Given the description of an element on the screen output the (x, y) to click on. 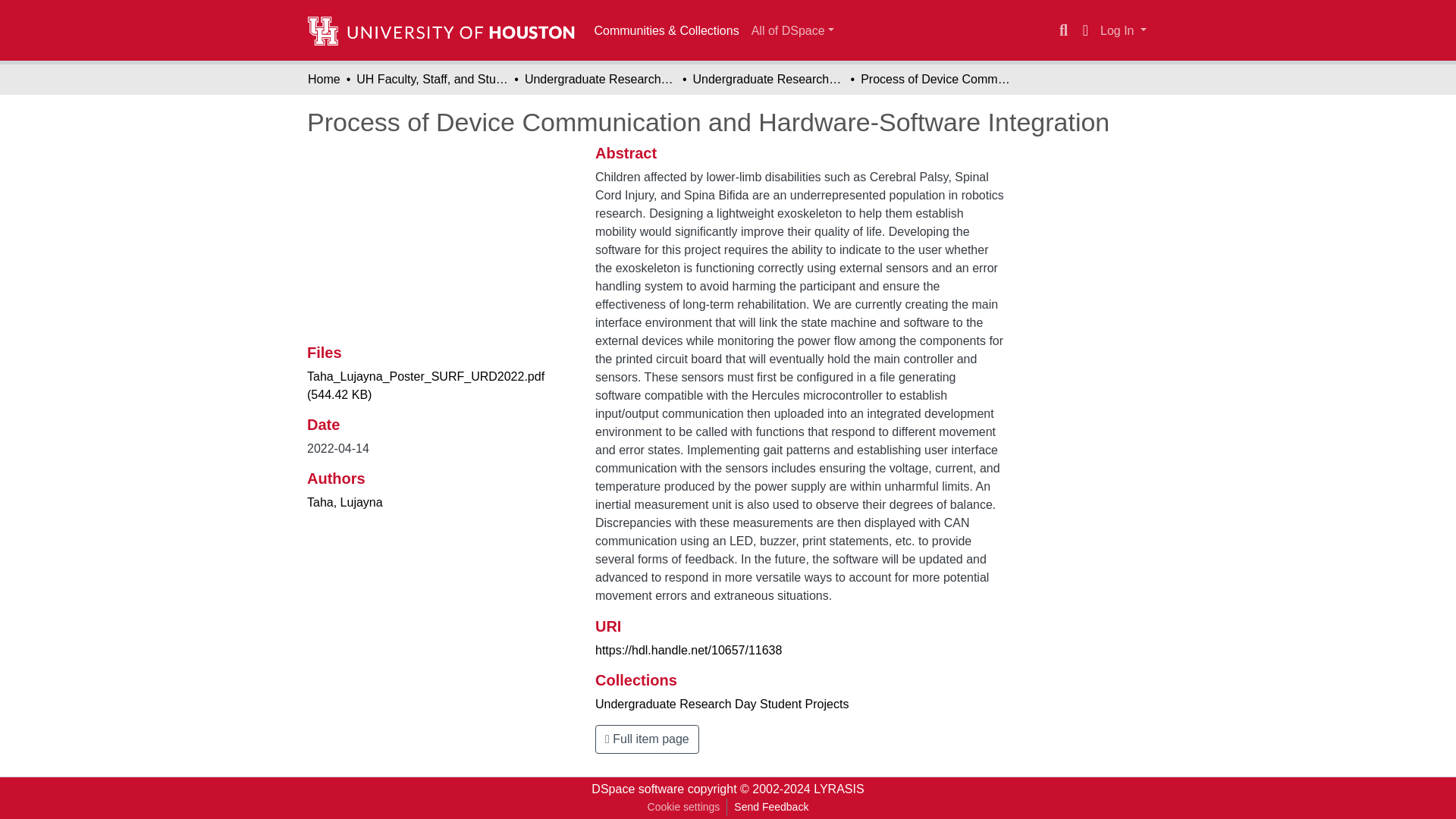
UH Faculty, Staff, and Student Works (432, 79)
Home (323, 79)
Undergraduate Research Day Projects (600, 79)
Language switch (1084, 30)
Log In (1122, 30)
Undergraduate Research Day Student Projects (721, 703)
Search (1063, 30)
LYRASIS (838, 788)
All of DSpace (792, 30)
Full item page (646, 738)
